Given the description of an element on the screen output the (x, y) to click on. 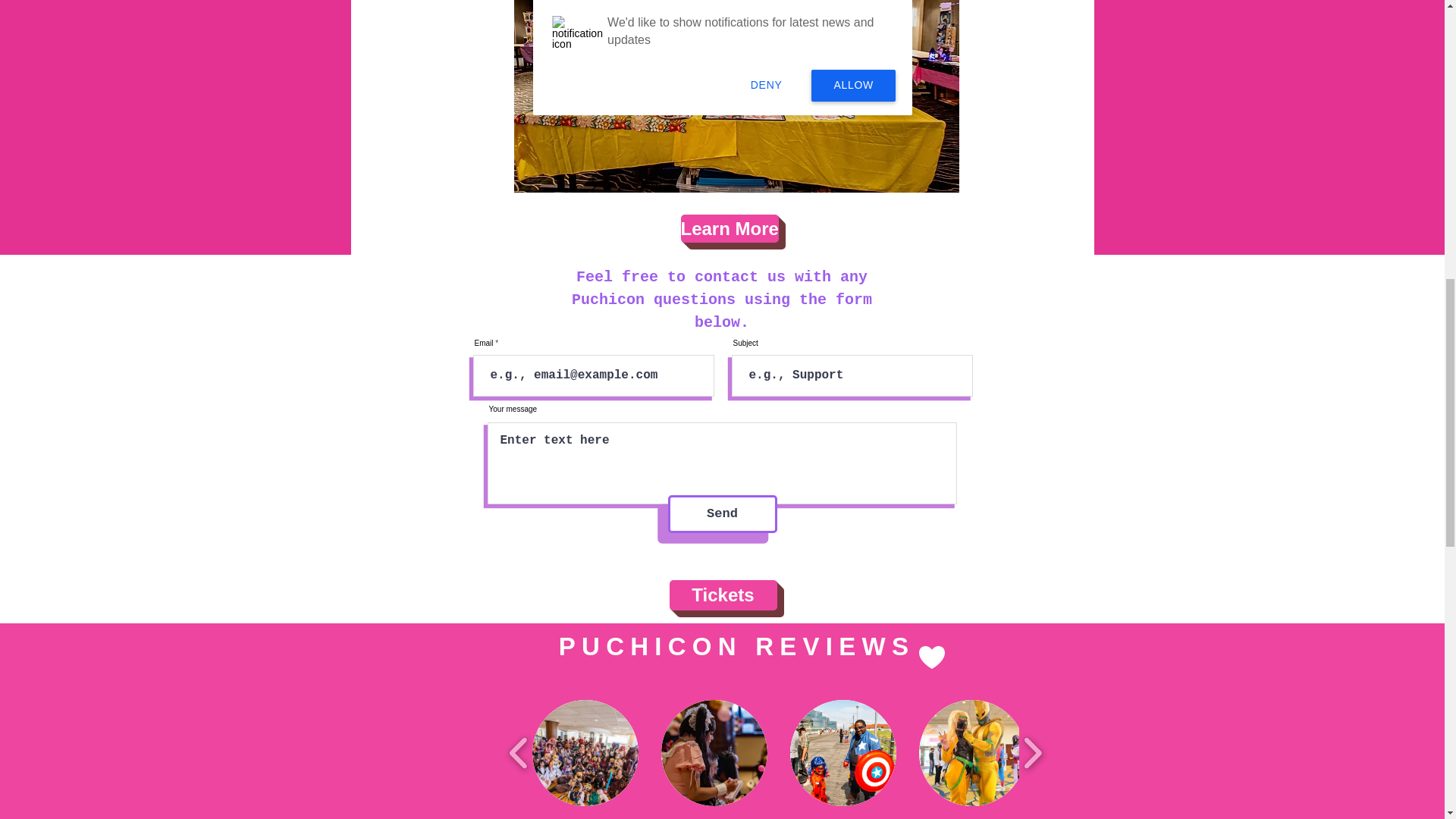
Send (721, 514)
Learn More (729, 228)
Tickets (722, 594)
